Given the description of an element on the screen output the (x, y) to click on. 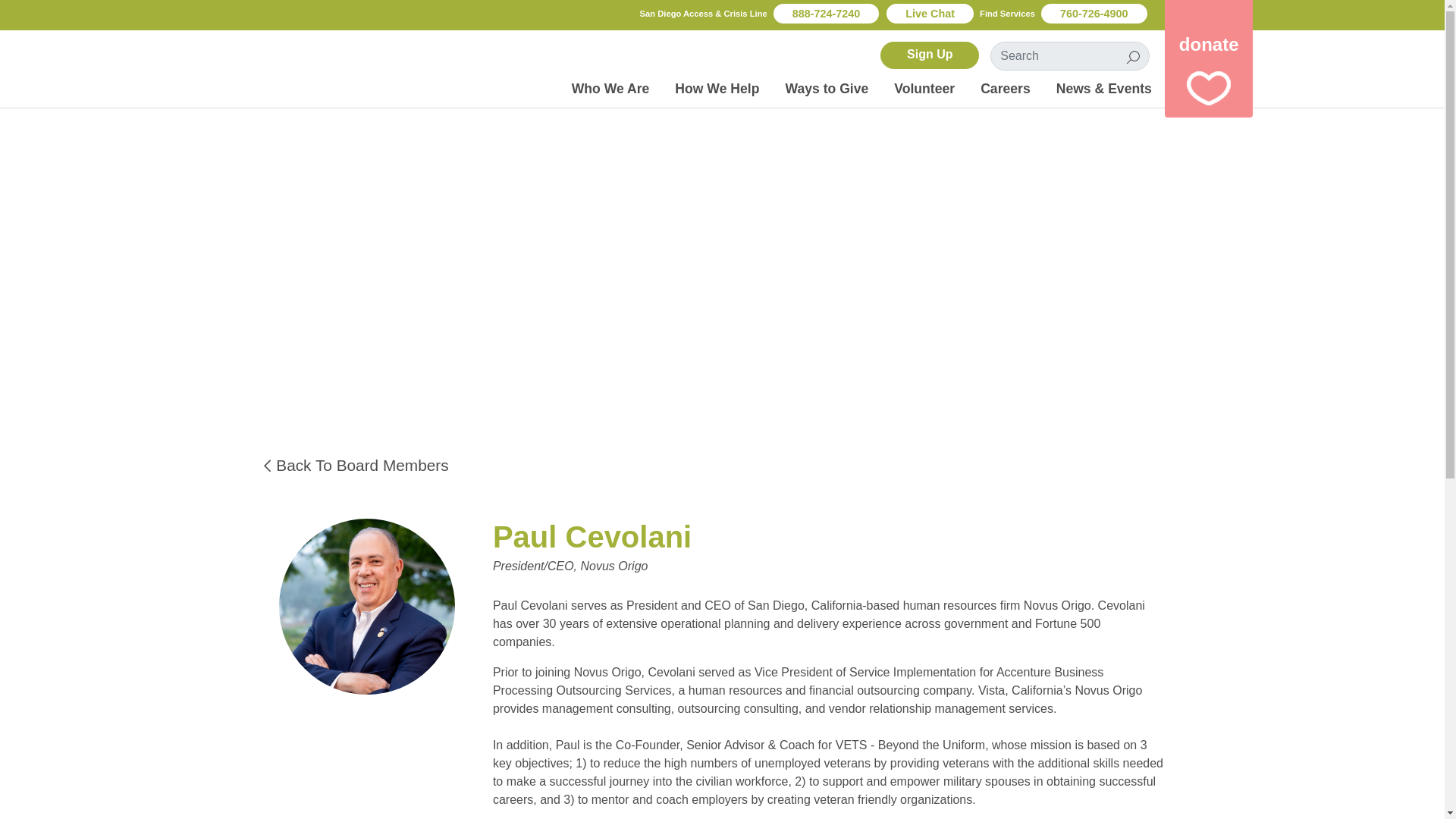
888-724-7240 (825, 13)
Search (1133, 55)
Live Chat (930, 13)
North Country (266, 65)
Who We Are (610, 88)
Ways to Give (825, 88)
Volunteer (924, 88)
How We Help (716, 88)
Sign Up (929, 54)
760-726-4900 (1093, 13)
